Given the description of an element on the screen output the (x, y) to click on. 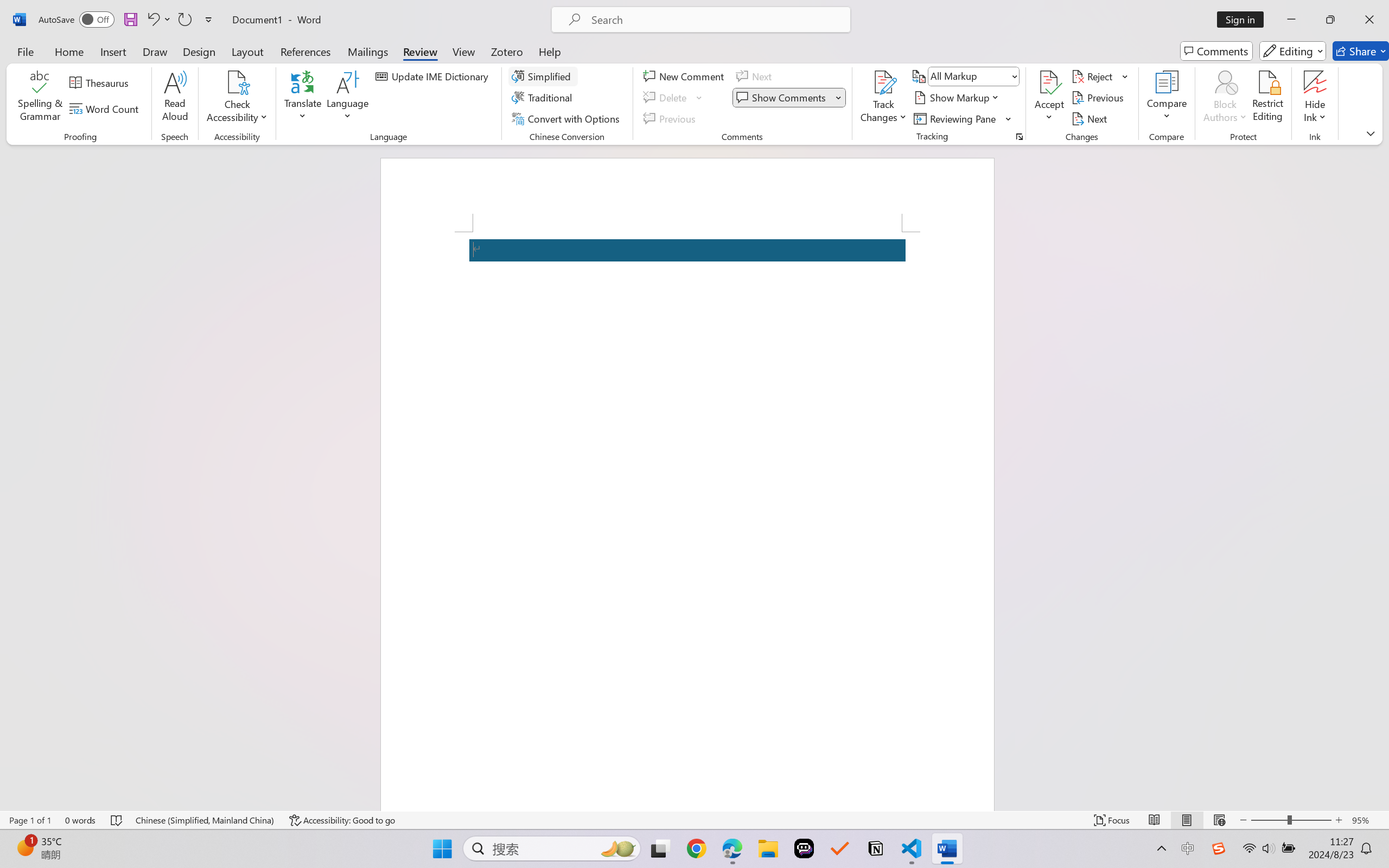
Show Markup (957, 97)
Hide Ink (1315, 81)
Reviewing Pane (955, 118)
Undo Apply Quick Style Set (158, 19)
Convert with Options... (567, 118)
Language (347, 97)
